Given the description of an element on the screen output the (x, y) to click on. 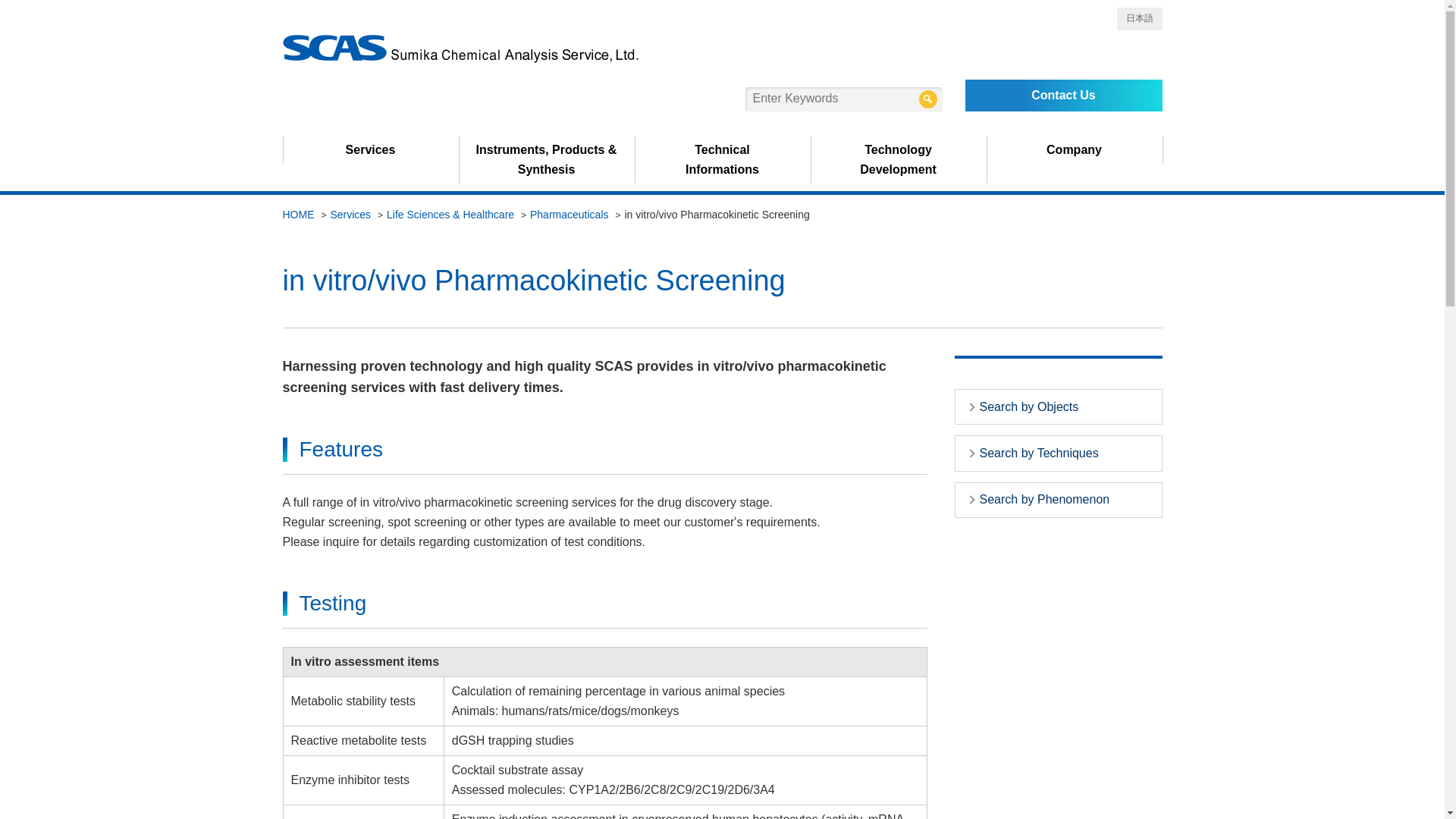
Site Search (722, 158)
Services (843, 98)
